Given the description of an element on the screen output the (x, y) to click on. 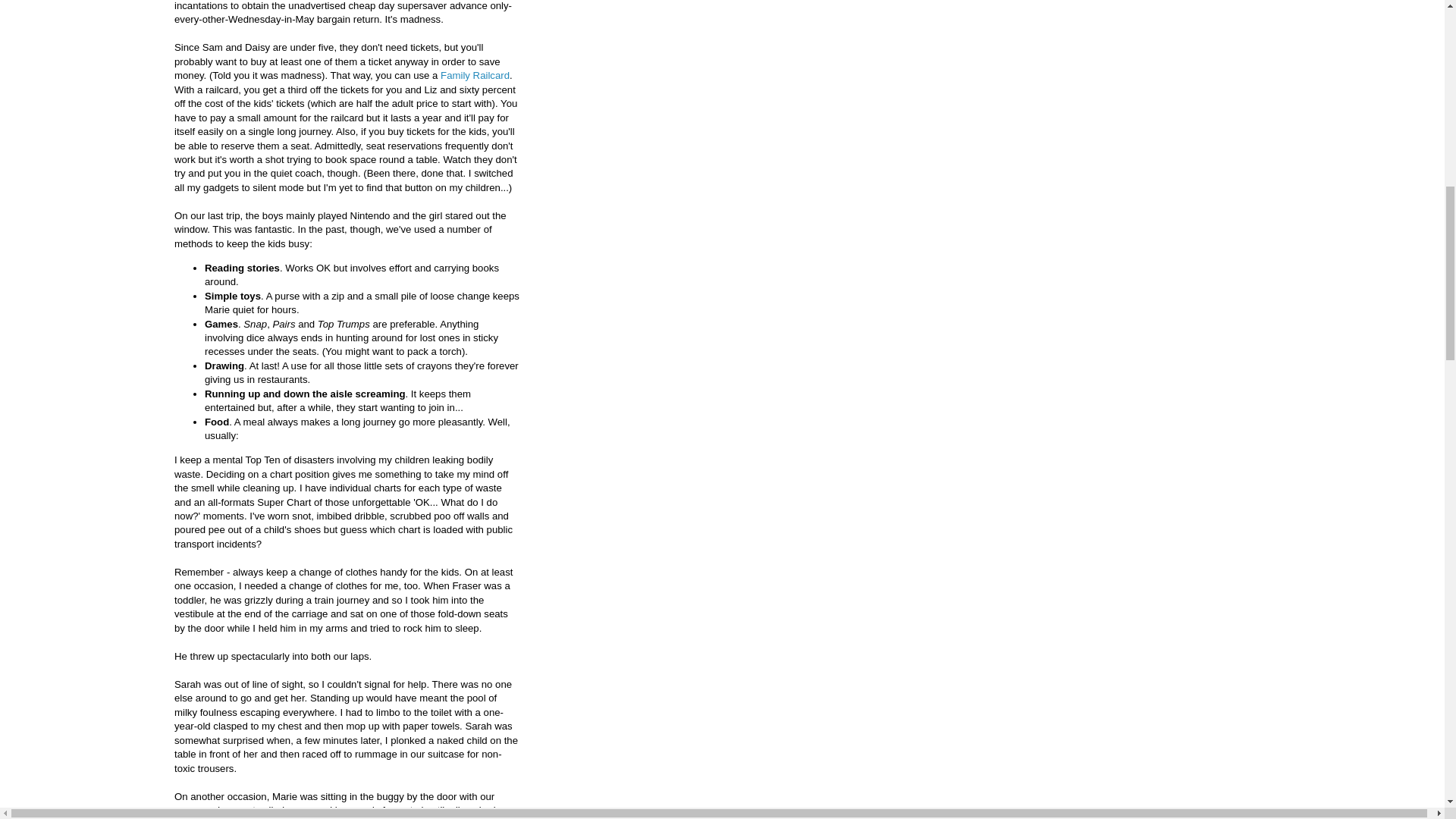
Family Railcard (475, 75)
